Given the description of an element on the screen output the (x, y) to click on. 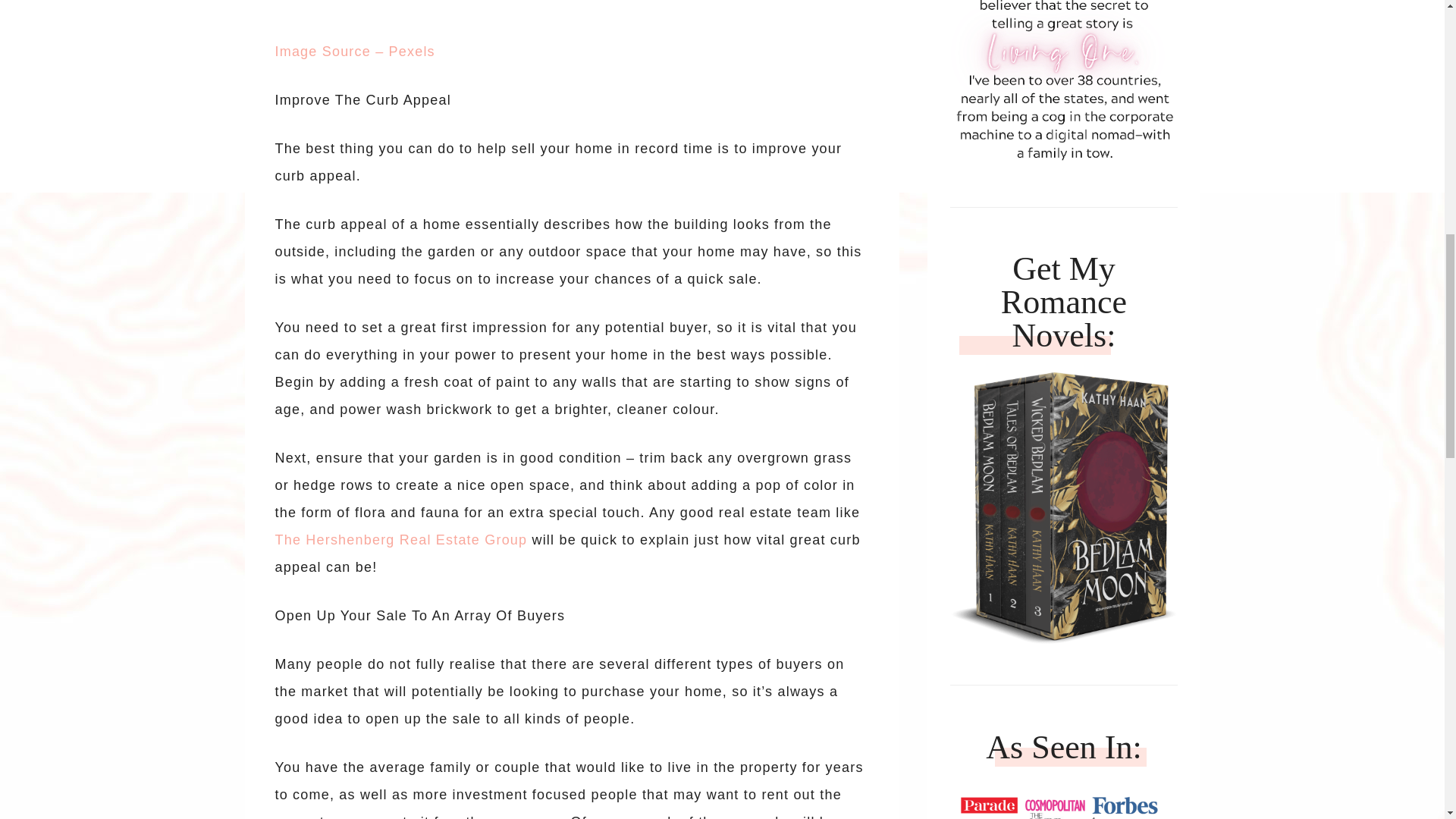
The Hershenberg Real Estate Group (401, 539)
As Seen In: (1063, 800)
